Given the description of an element on the screen output the (x, y) to click on. 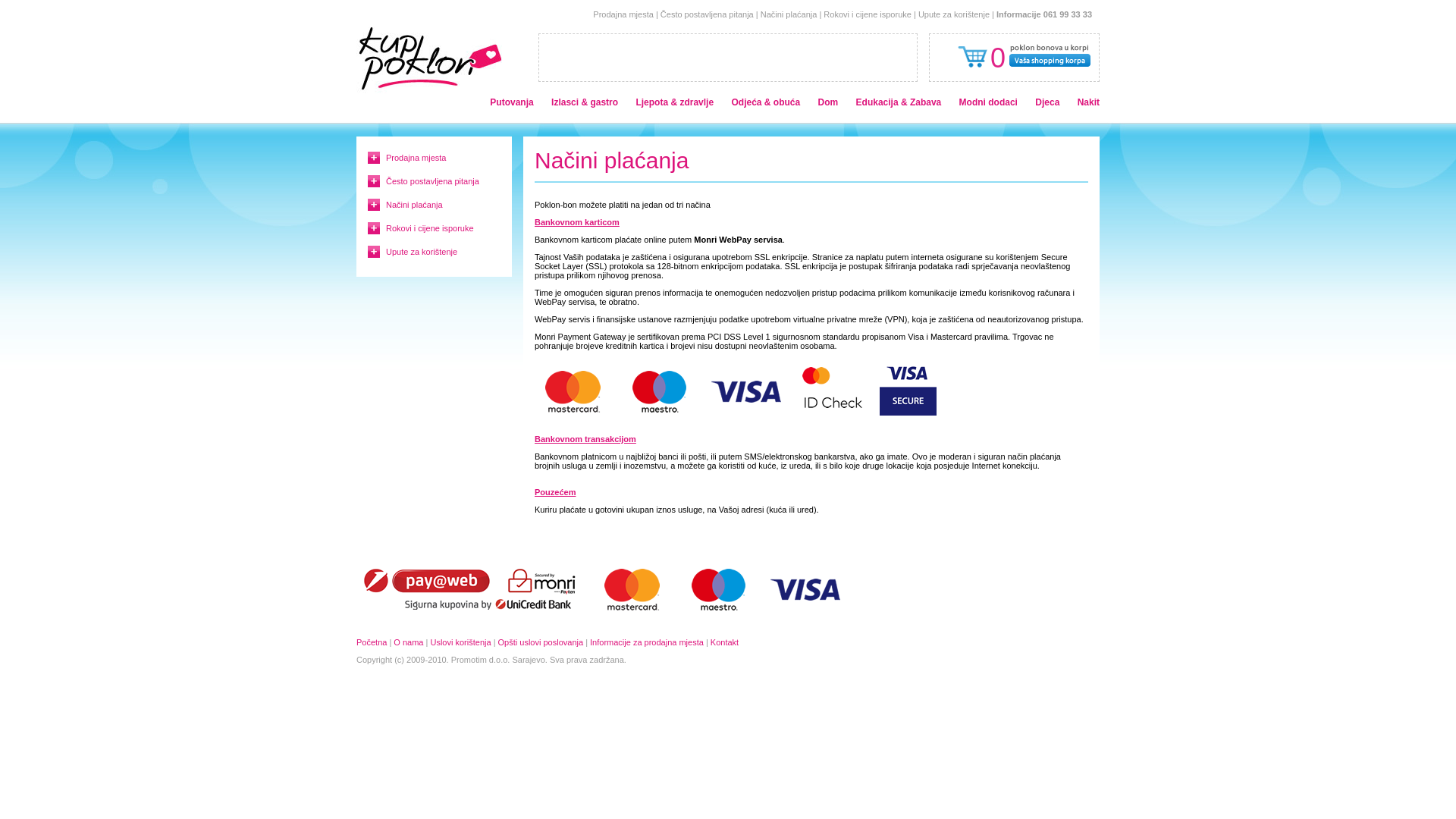
Edukacija & Zabava Element type: text (898, 102)
Rokovi i cijene isporuke Element type: text (867, 13)
Nakit Element type: text (1088, 102)
Prodajna mjesta Element type: text (623, 13)
Djeca Element type: text (1047, 102)
Promotim d.o.o. Element type: text (480, 659)
Kontakt Element type: text (724, 641)
Dom Element type: text (828, 102)
Prodajna mjesta Element type: text (415, 157)
O nama Element type: text (408, 641)
Rokovi i cijene isporuke Element type: text (429, 227)
Modni dodaci Element type: text (988, 102)
Ljepota & zdravlje Element type: text (674, 102)
Izlasci & gastro Element type: text (584, 102)
Putovanja Element type: text (511, 102)
Informacije za prodajna mjesta Element type: text (646, 641)
